Given the description of an element on the screen output the (x, y) to click on. 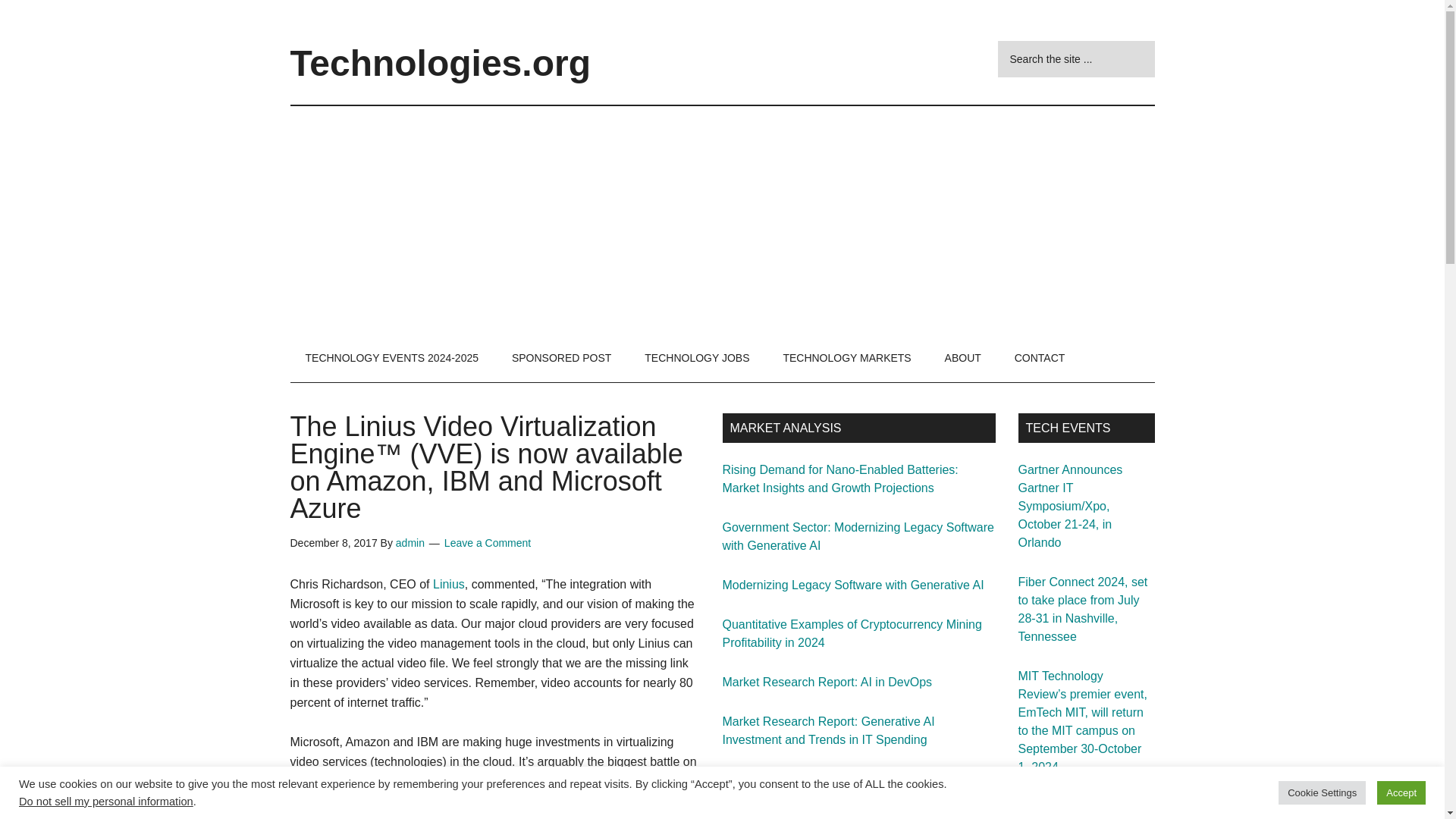
Technologies.org (439, 63)
Market Research Report: AI in DevOps (826, 681)
SPONSORED POST (561, 357)
ABOUT (962, 357)
TECHNOLOGY MARKETS (846, 357)
admin (410, 542)
Market Research Report: AI in DevOps (826, 681)
